Given the description of an element on the screen output the (x, y) to click on. 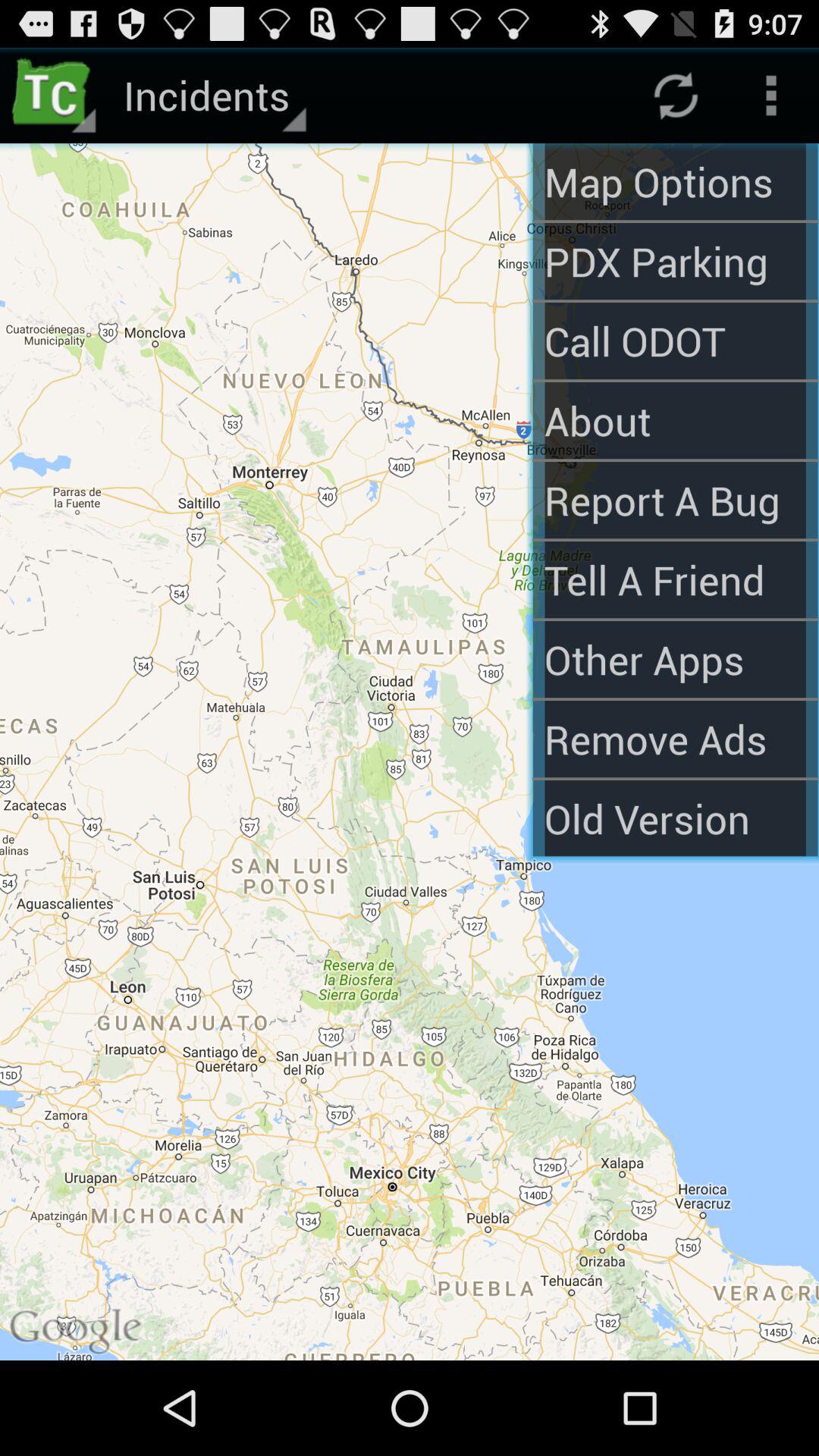
go to the top right corner icon (771, 95)
select option incidents with dropdown button on a page (212, 95)
click on the text remove ads which is above the old version (675, 738)
click on the option pdx parking (675, 260)
click on synchronize icon (675, 95)
click on the about option (675, 419)
